Given the description of an element on the screen output the (x, y) to click on. 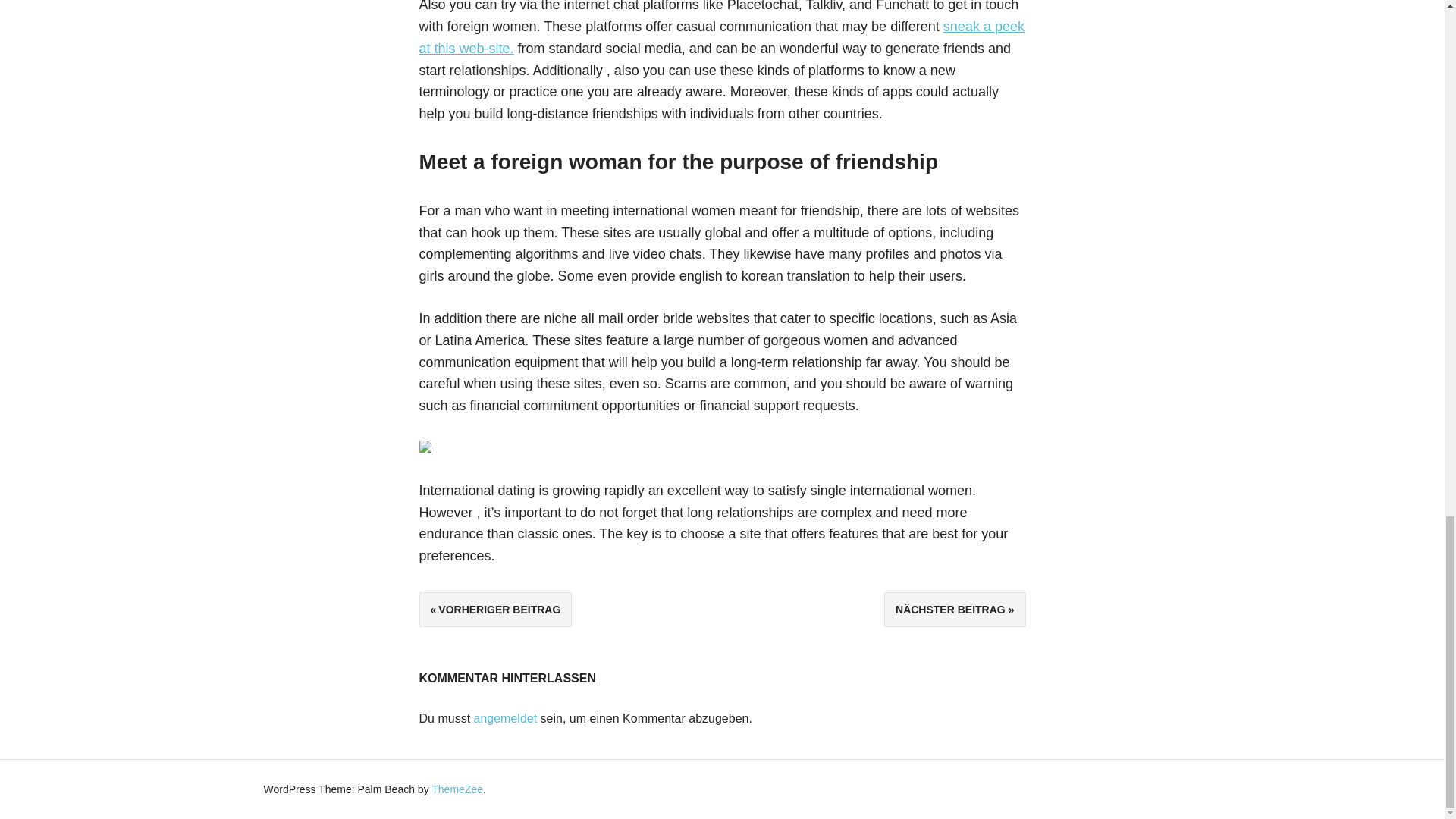
ThemeZee (456, 788)
sneak a peek at this web-site. (721, 37)
VORHERIGER BEITRAG (495, 609)
angemeldet (505, 717)
